Given the description of an element on the screen output the (x, y) to click on. 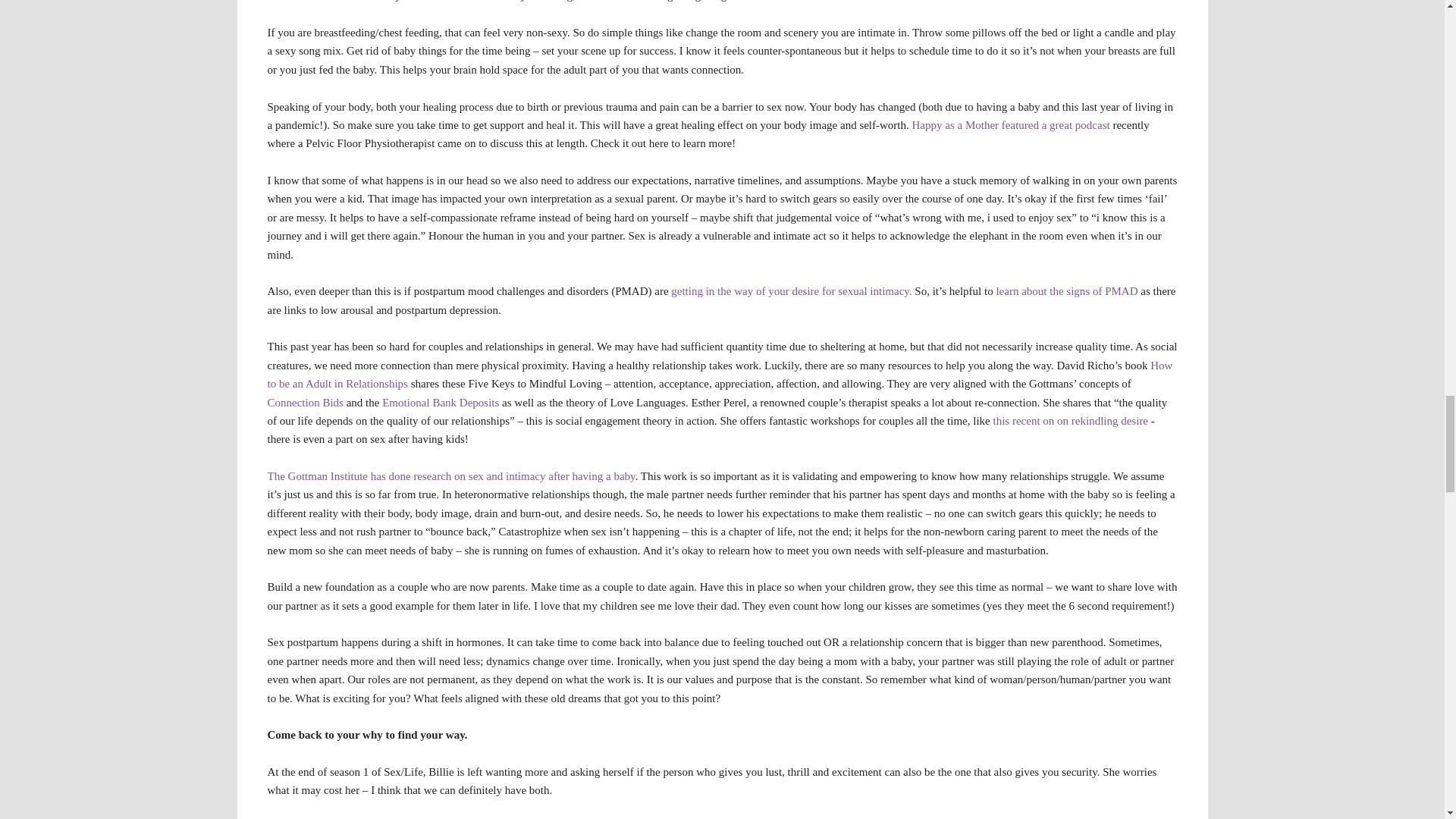
Connection Bids (304, 401)
How to be an Adult in Relationships (719, 374)
Emotional Bank Deposits (440, 401)
learn about the signs of PMAD (1066, 291)
getting in the way of your desire for sexual intimacy. (791, 291)
Happy as a Mother featured a great podcast (1010, 124)
this recent on on rekindling desire (1070, 420)
